Given the description of an element on the screen output the (x, y) to click on. 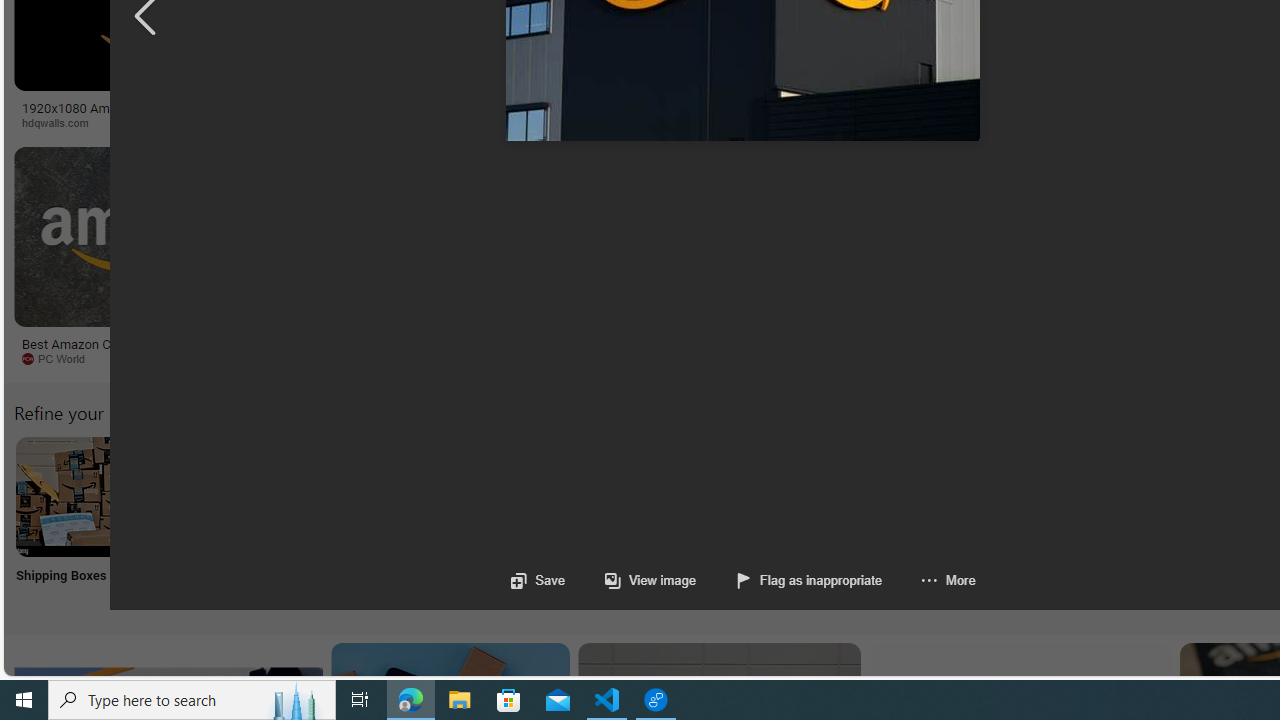
More (928, 580)
Flag as inappropriate (809, 580)
thewrap.com (937, 359)
Amazon Package Delivery (735, 496)
Wish List (999, 521)
